Given the description of an element on the screen output the (x, y) to click on. 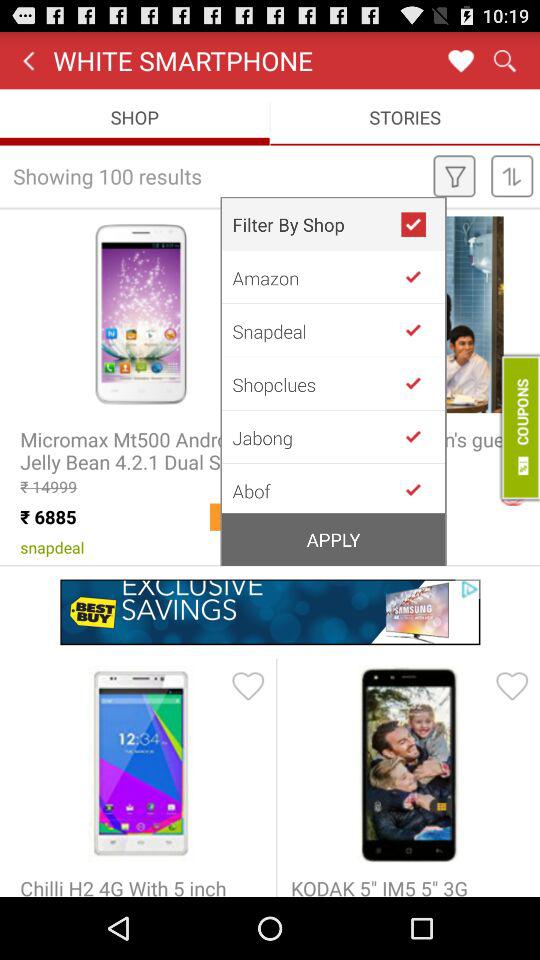
check item (421, 488)
